Given the description of an element on the screen output the (x, y) to click on. 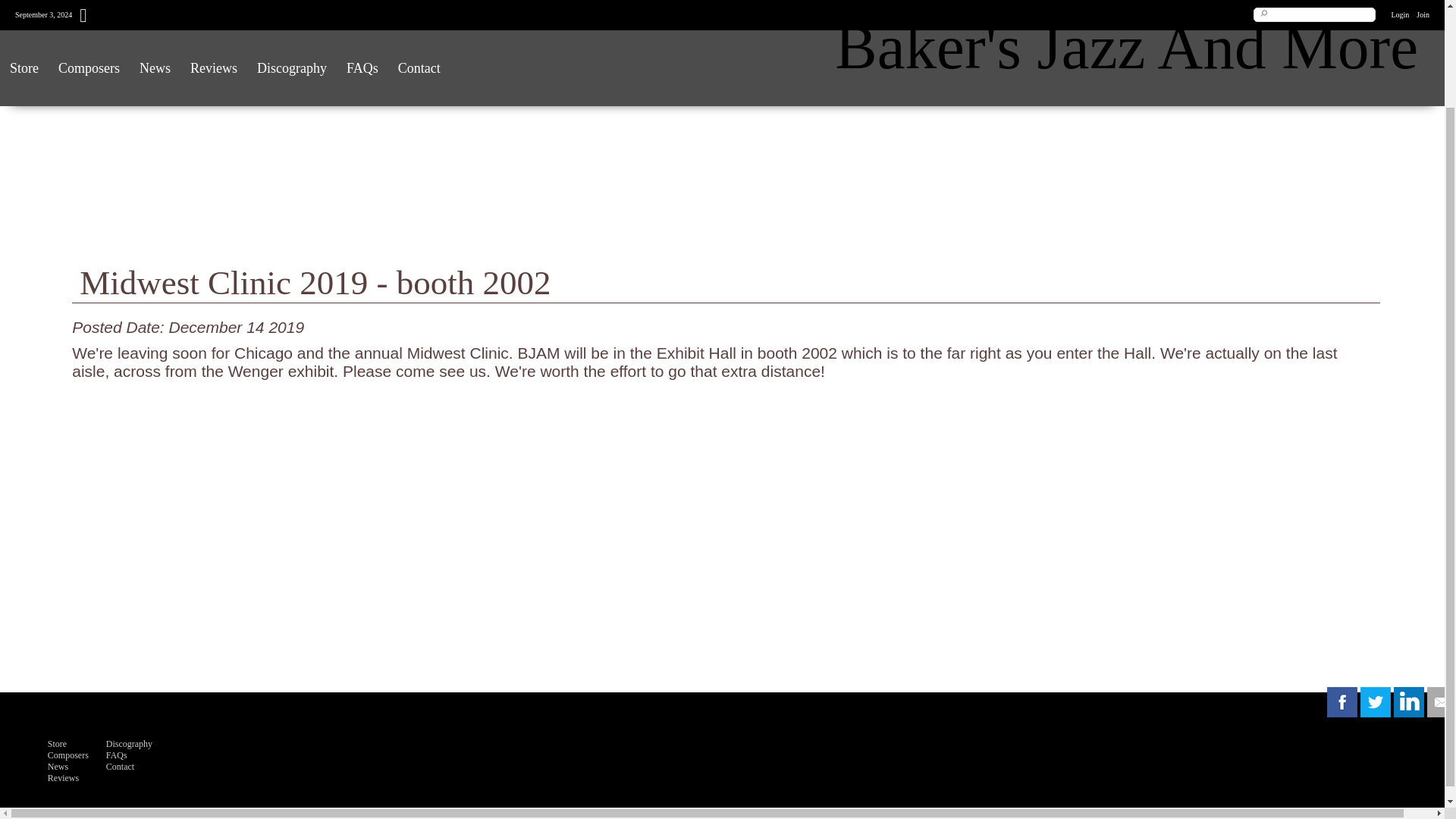
Store (57, 743)
Composers (68, 755)
Discography (129, 743)
FAQs (117, 755)
Reviews (63, 777)
News (58, 766)
Contact (119, 766)
